Given the description of an element on the screen output the (x, y) to click on. 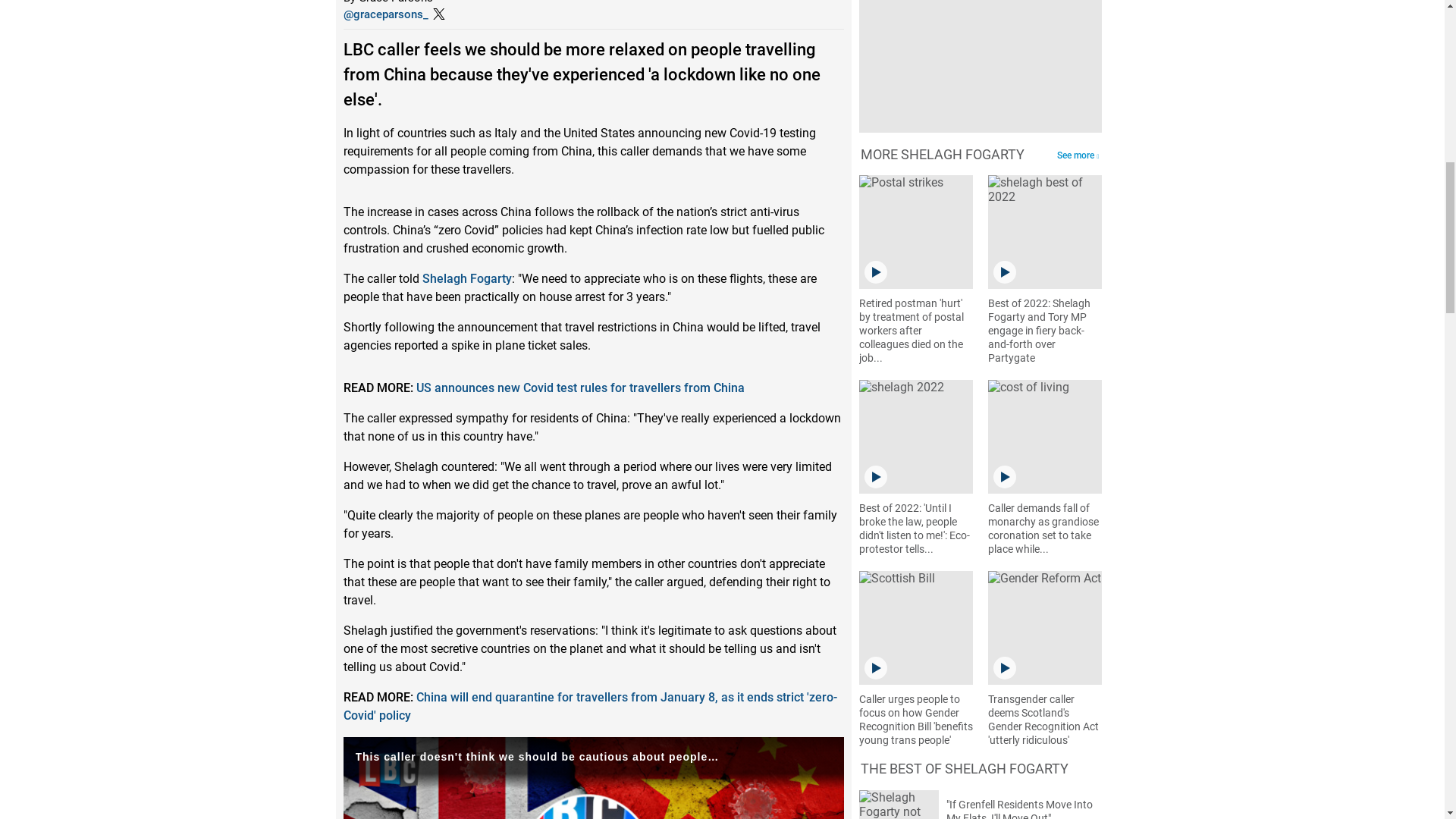
Shelagh Fogarty (466, 278)
Follow Grace Parsons on X (385, 14)
